Given the description of an element on the screen output the (x, y) to click on. 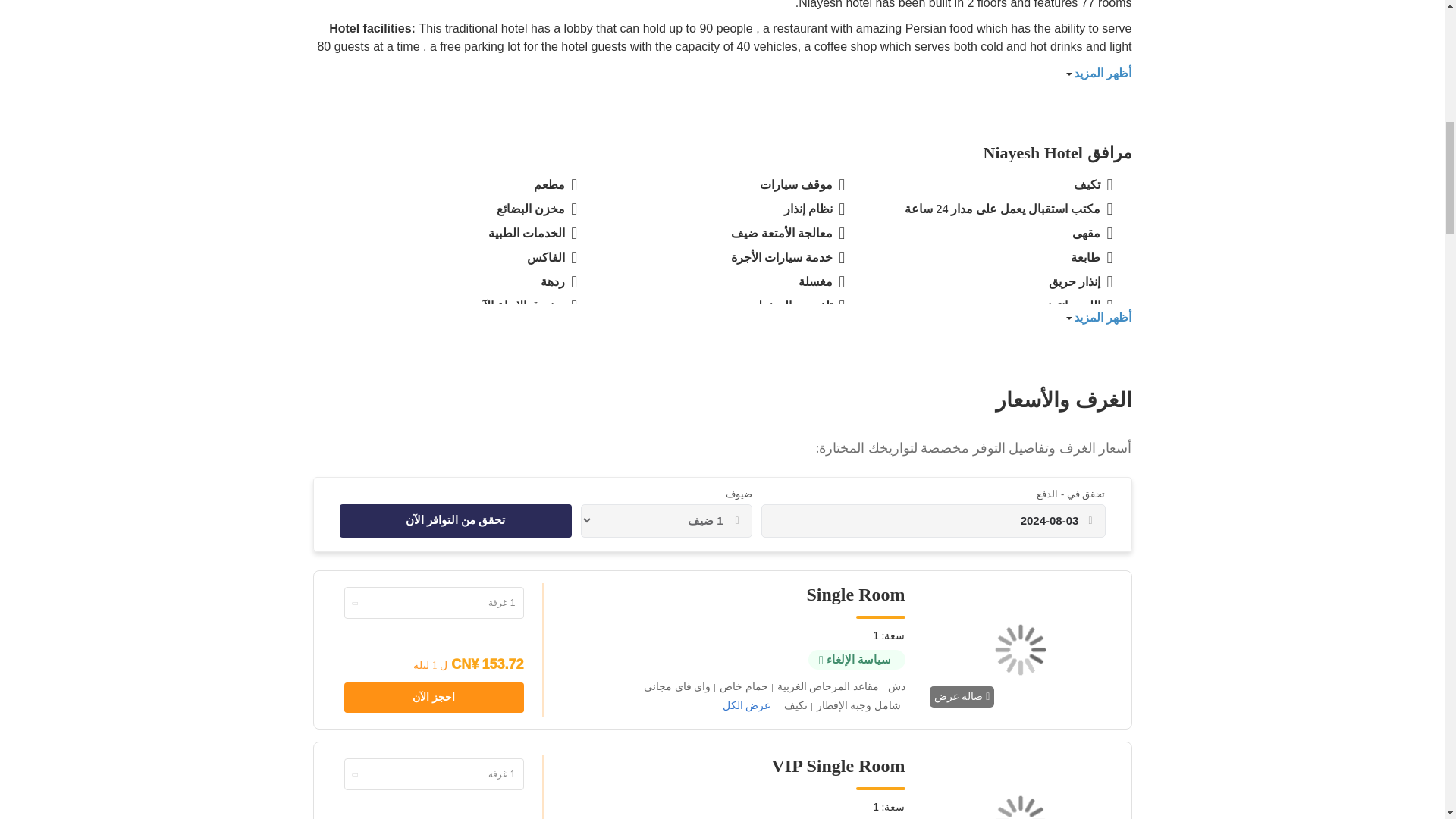
2024-08-03 (925, 519)
